Given the description of an element on the screen output the (x, y) to click on. 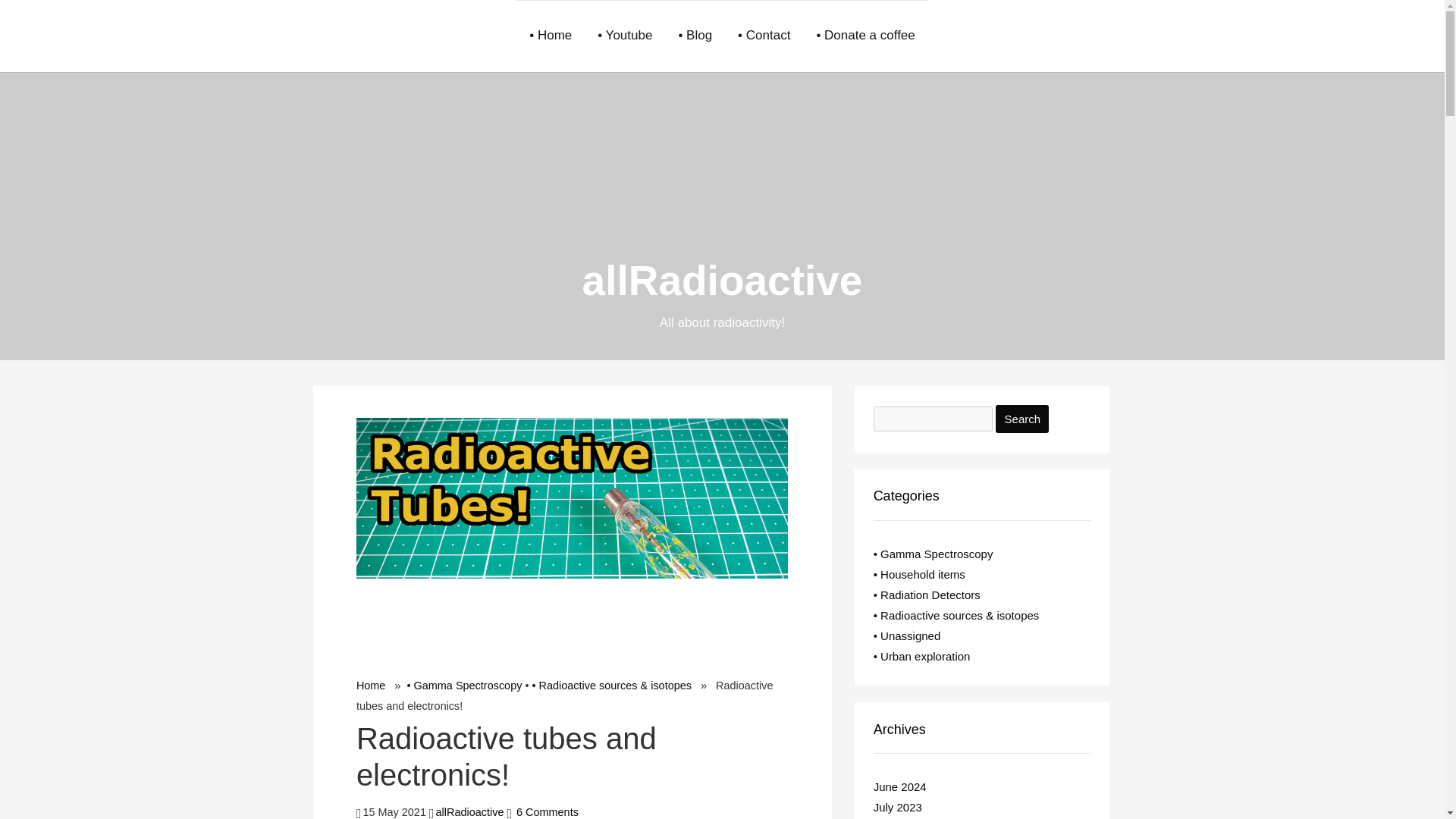
Search (1021, 419)
allRadioactive (469, 811)
Posts by allRadioactive (469, 811)
Home (370, 685)
6 Comments (547, 811)
Search (1021, 419)
allRadioactive (722, 280)
